Given the description of an element on the screen output the (x, y) to click on. 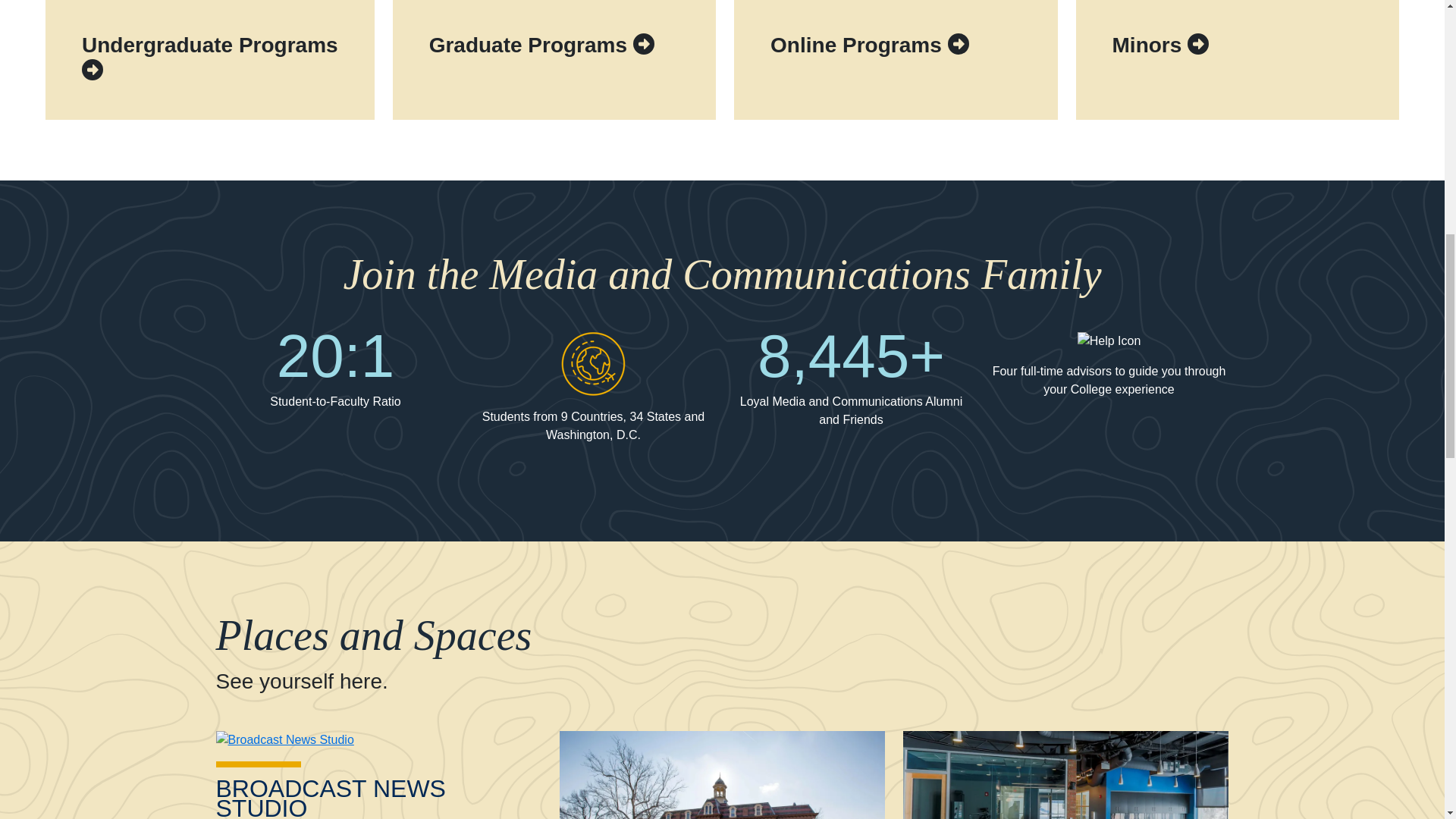
Image not found (1109, 347)
Read More: Broadcast News Studio (284, 739)
